Given the description of an element on the screen output the (x, y) to click on. 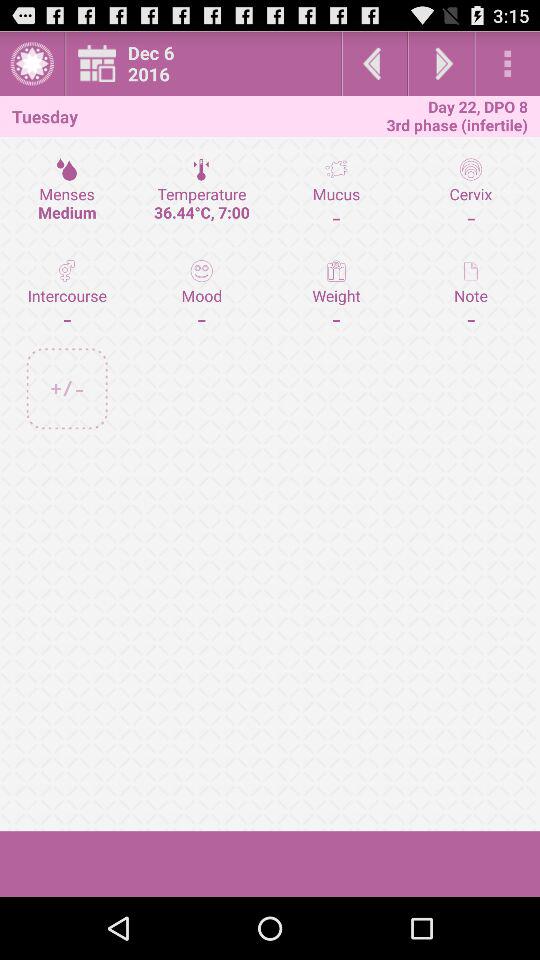
go to next day (441, 63)
